Given the description of an element on the screen output the (x, y) to click on. 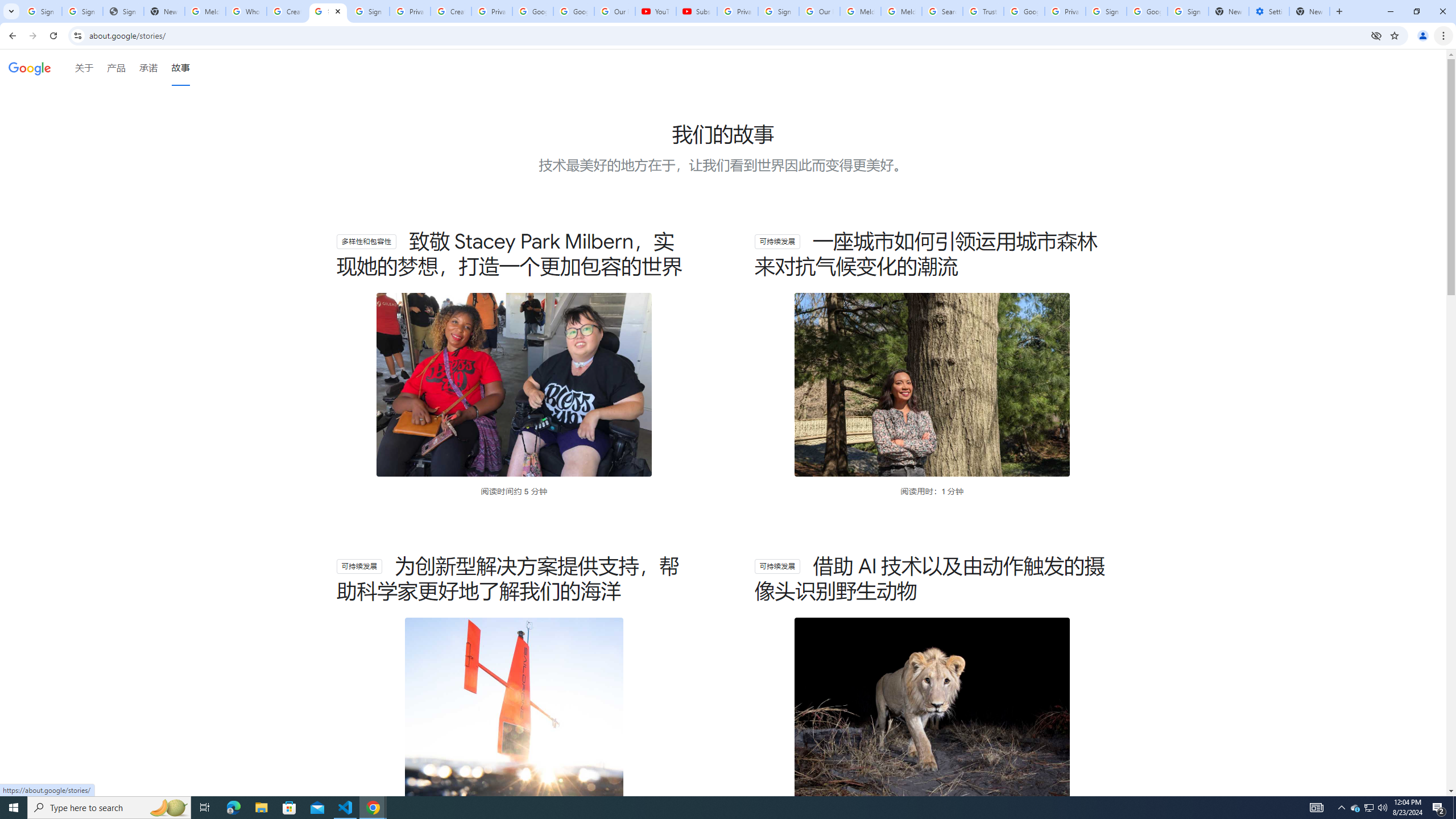
Search our Doodle Library Collection - Google Doodles (942, 11)
Google Account (573, 11)
Sign in - Google Accounts (368, 11)
Sign In - USA TODAY (122, 11)
Google Ads - Sign in (1023, 11)
